Given the description of an element on the screen output the (x, y) to click on. 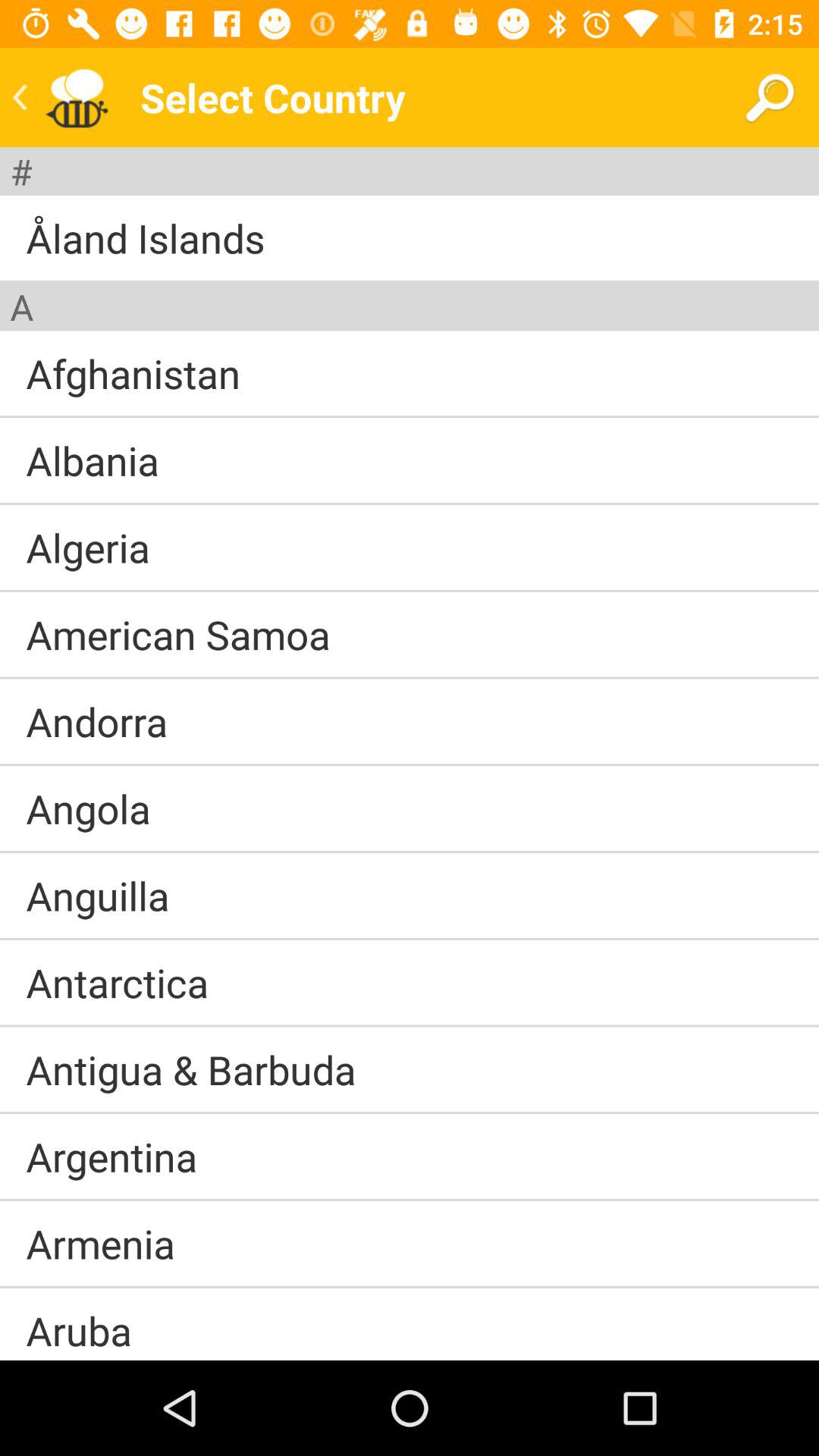
choose icon below the angola item (409, 851)
